Given the description of an element on the screen output the (x, y) to click on. 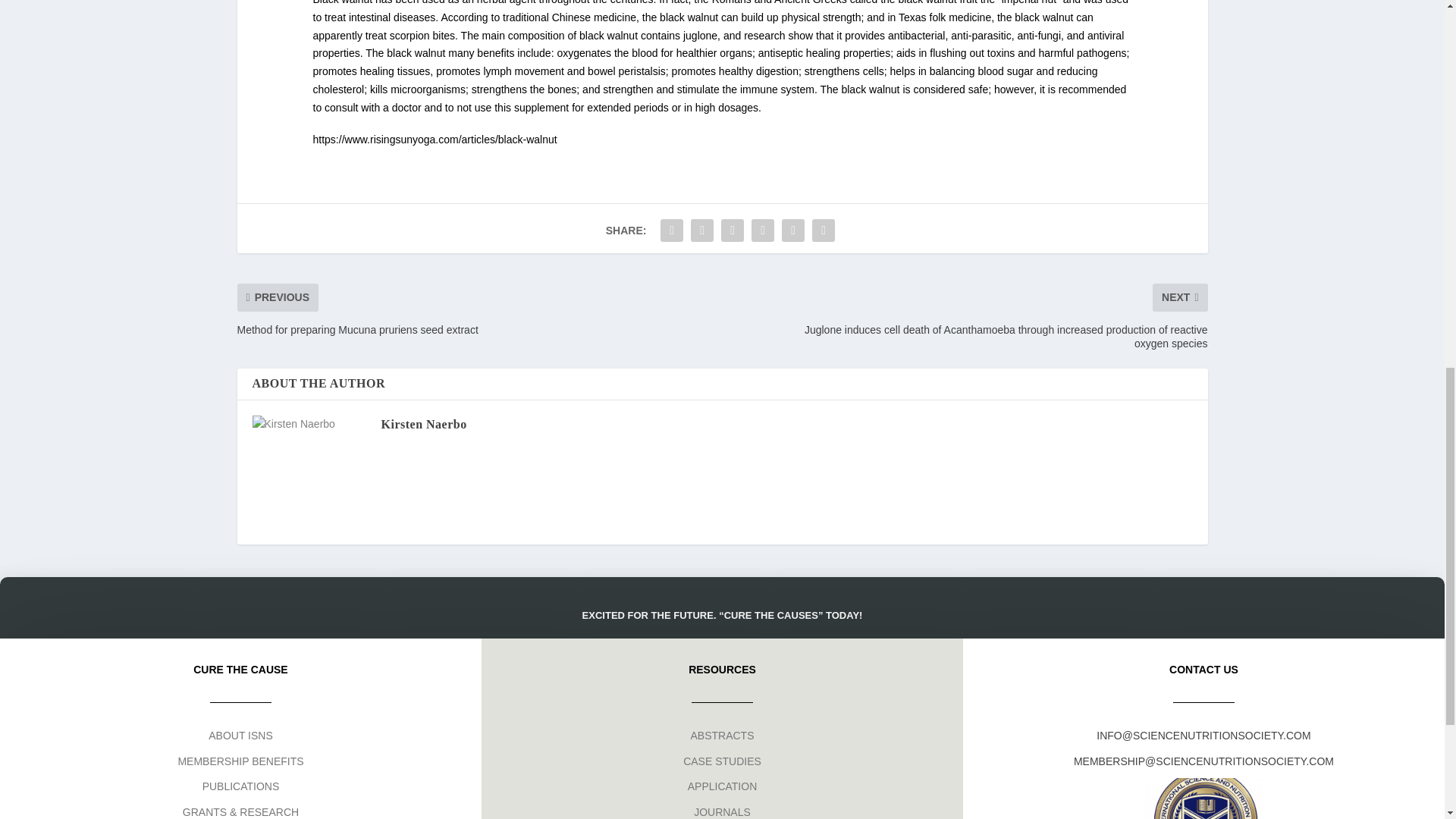
Share "Black Walnut" via Facebook (671, 230)
Share "Black Walnut" via Pinterest (732, 230)
Share "Black Walnut" via Twitter (702, 230)
View all posts by Kirsten Naerbo (422, 423)
Share "Black Walnut" via LinkedIn (762, 230)
Share "Black Walnut" via Print (823, 230)
Share "Black Walnut" via Email (792, 230)
